Given the description of an element on the screen output the (x, y) to click on. 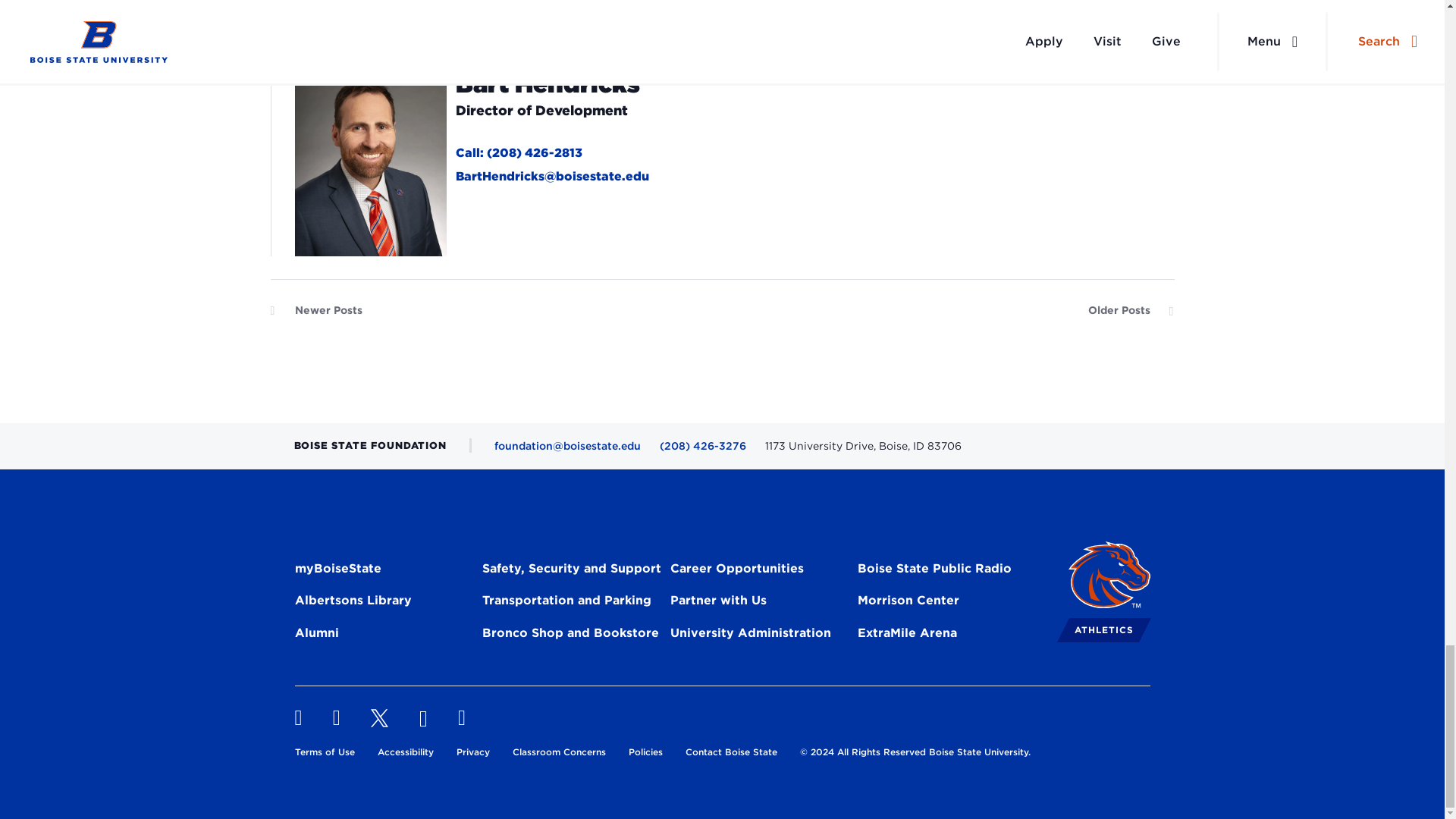
Follow us on Instagram (336, 717)
Follow us on Facebook (297, 717)
Follow us on X (379, 718)
